Given the description of an element on the screen output the (x, y) to click on. 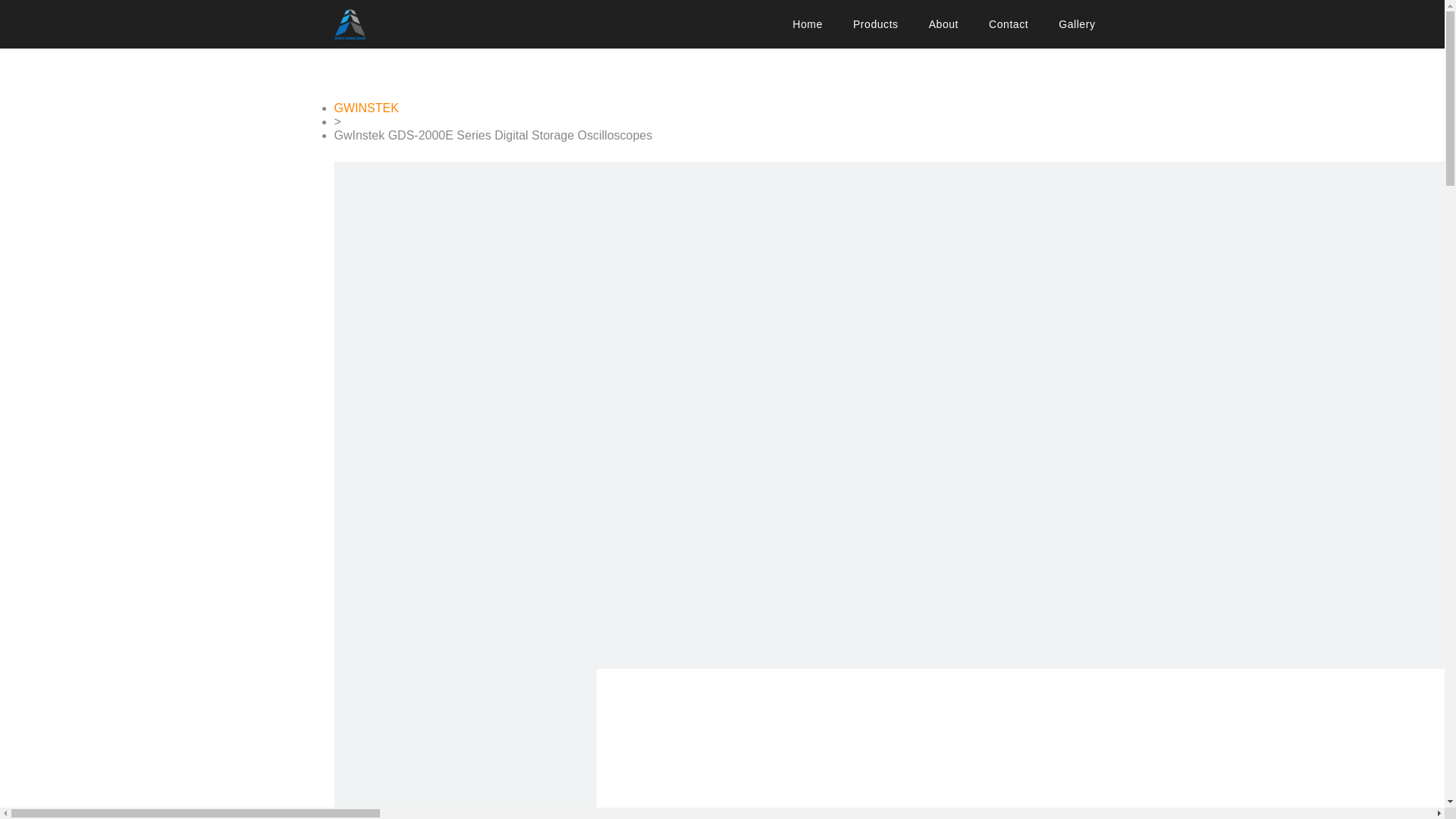
About (944, 24)
Home (807, 24)
Gallery (1076, 24)
GWINSTEK (365, 107)
Products (876, 24)
Contact (1008, 24)
